Given the description of an element on the screen output the (x, y) to click on. 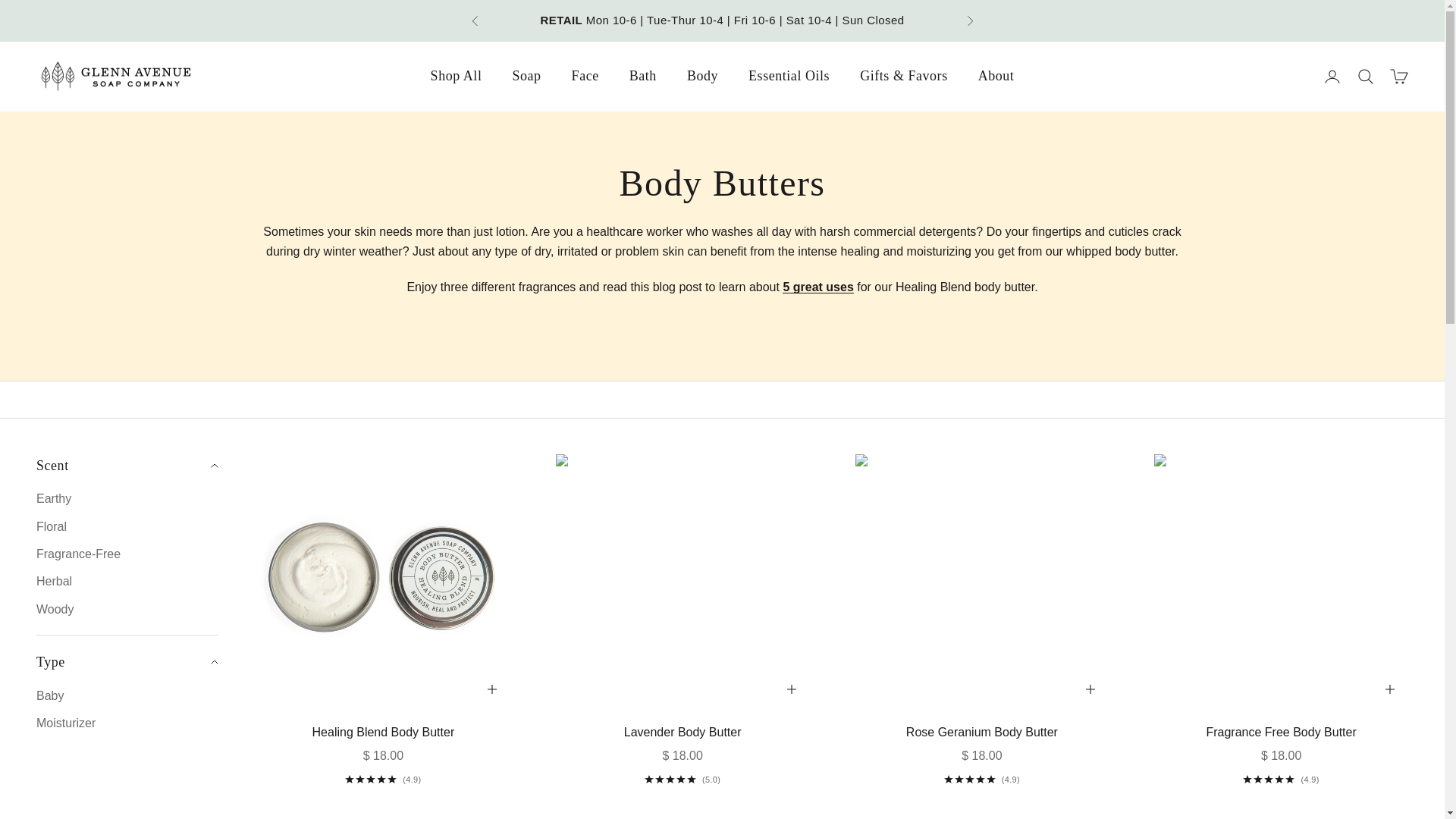
1 review (682, 778)
Open account page (1331, 76)
About (996, 75)
Open cart (1398, 76)
Glenn Avenue Soap Company (115, 76)
55 reviews (1281, 778)
55 reviews (382, 778)
55 reviews (981, 778)
Open search (1365, 76)
